Given the description of an element on the screen output the (x, y) to click on. 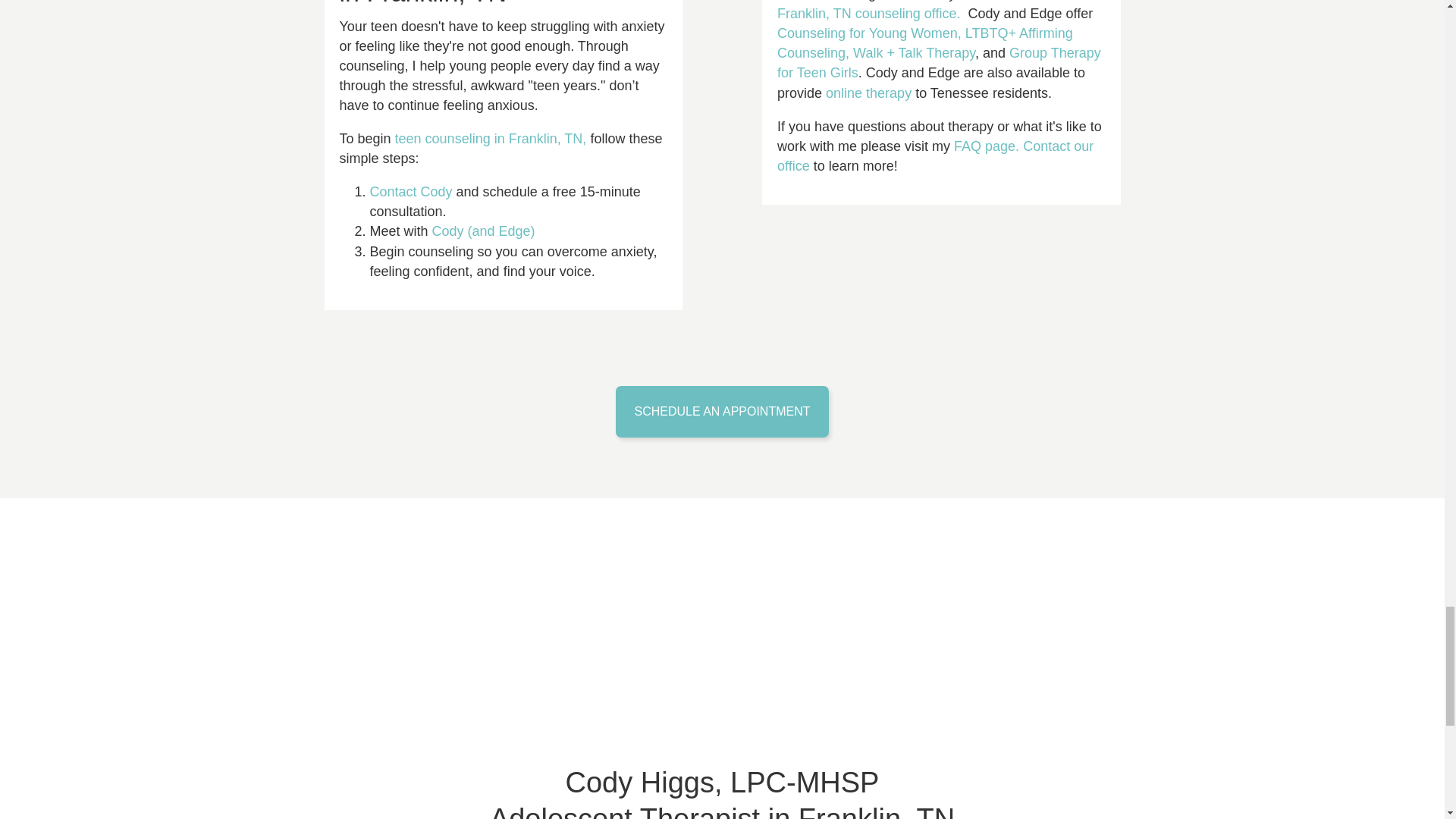
teen counseling in Franklin, TN, (490, 138)
Franklin, TN counseling office. (870, 13)
Counseling for Young Women, (868, 32)
Group Therapy for Teen Girls (938, 62)
Contact our office (935, 155)
Contact Cody (410, 191)
online therapy (868, 92)
SCHEDULE AN APPOINTMENT (721, 411)
FAQ page. (986, 145)
